Given the description of an element on the screen output the (x, y) to click on. 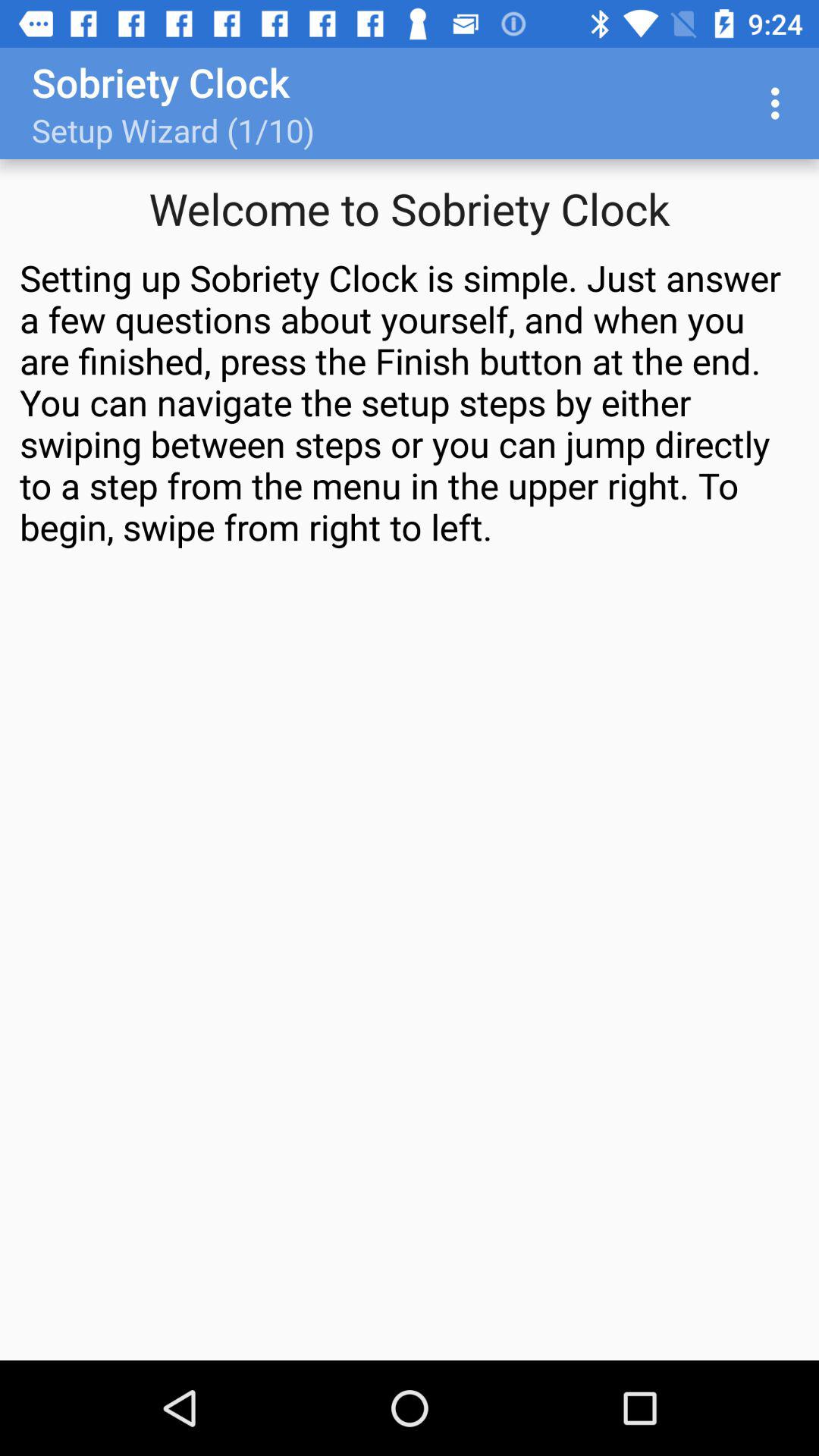
click the icon to the right of setup wizard 1 item (779, 103)
